Given the description of an element on the screen output the (x, y) to click on. 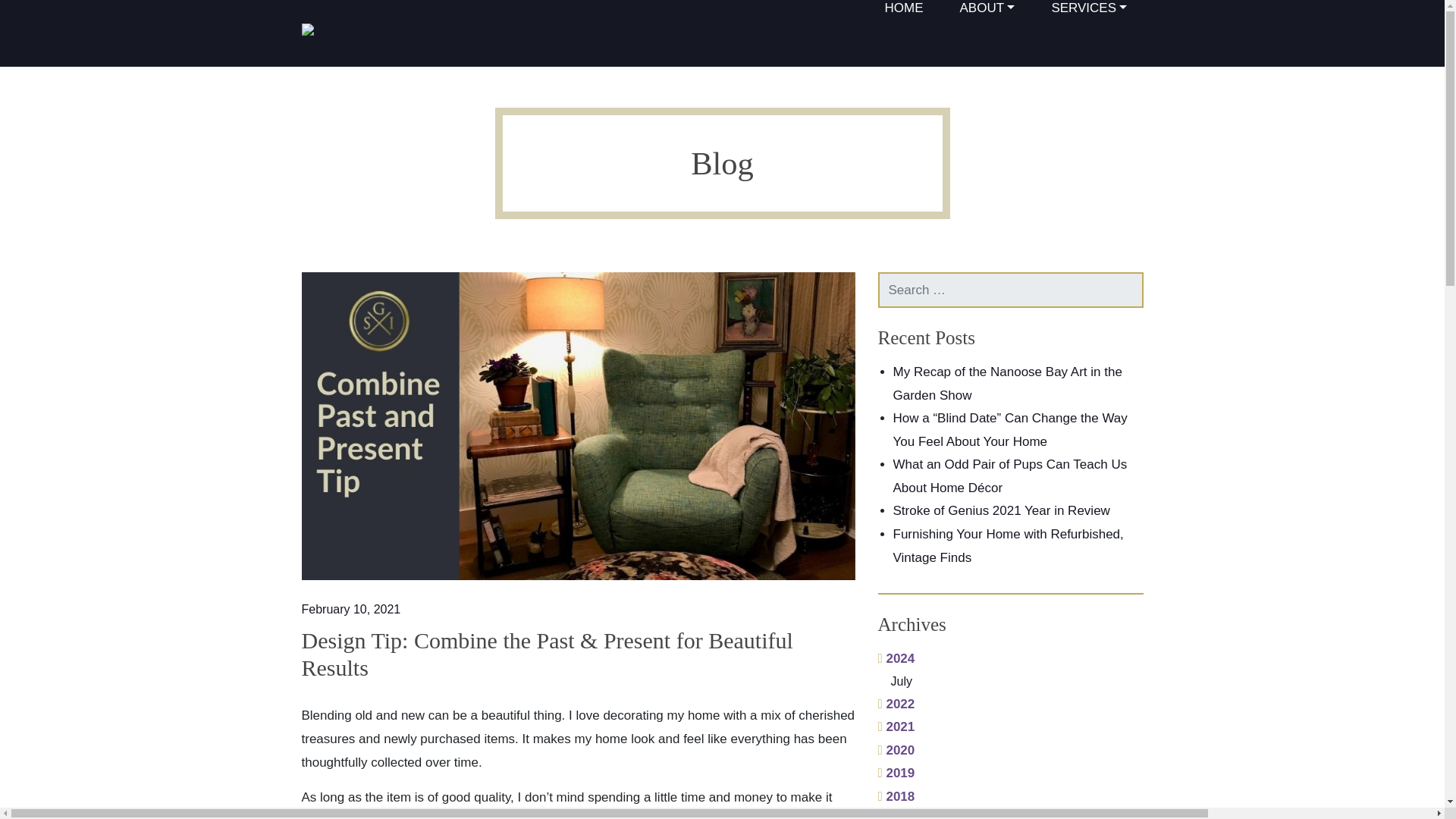
February 10, 2021 (351, 608)
2021 (896, 726)
July (1016, 681)
About (986, 13)
Stroke of Genius 2021 Year in Review (1001, 510)
SERVICES (1088, 13)
Furnishing Your Home with Refurbished, Vintage Finds (1008, 546)
2022 (896, 703)
My Recap of the Nanoose Bay Art in the Garden Show (1007, 383)
ABOUT (986, 13)
Services (1088, 13)
Home (902, 13)
2024 (896, 658)
HOME (902, 13)
